Given the description of an element on the screen output the (x, y) to click on. 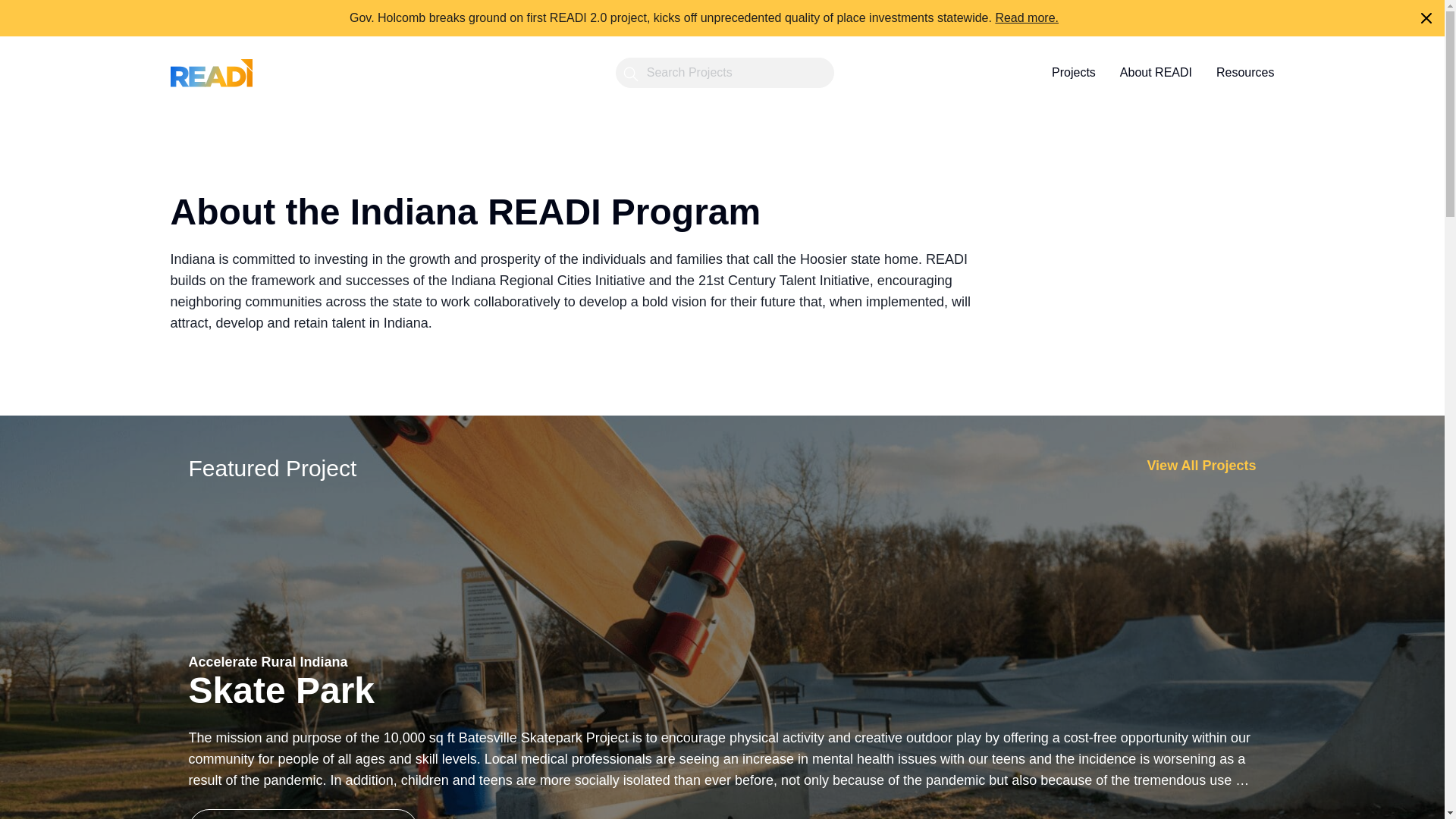
Read more. (1026, 17)
View All Projects (1201, 468)
Projects (1073, 72)
Resources (1244, 72)
About READI (1155, 72)
